Given the description of an element on the screen output the (x, y) to click on. 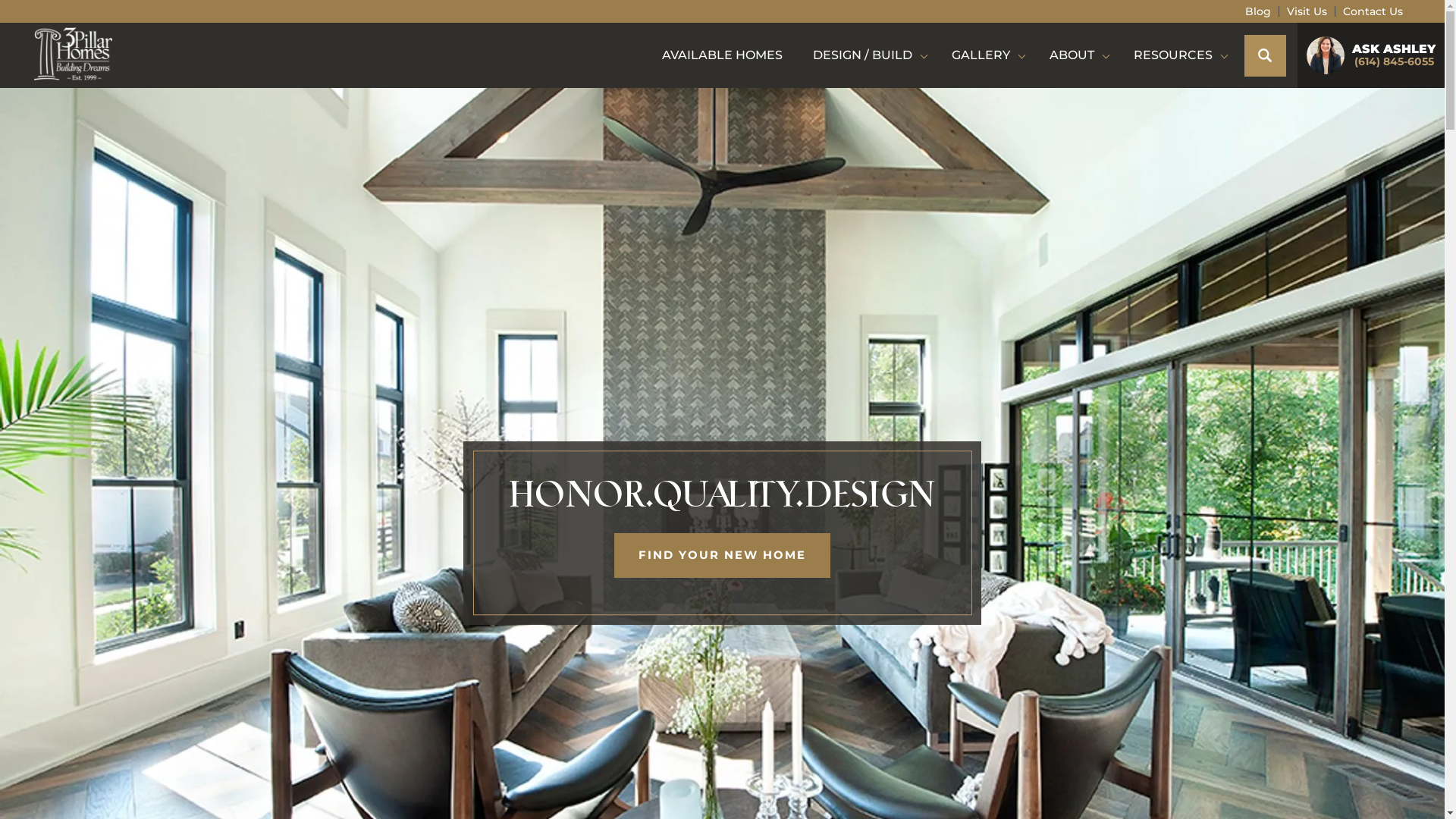
FIND YOUR NEW HOME Element type: text (722, 555)
AVAILABLE HOMES Element type: text (721, 54)
Visit Us Element type: text (1306, 11)
Blog Element type: text (1257, 11)
Contact Us Element type: text (1372, 11)
